Given the description of an element on the screen output the (x, y) to click on. 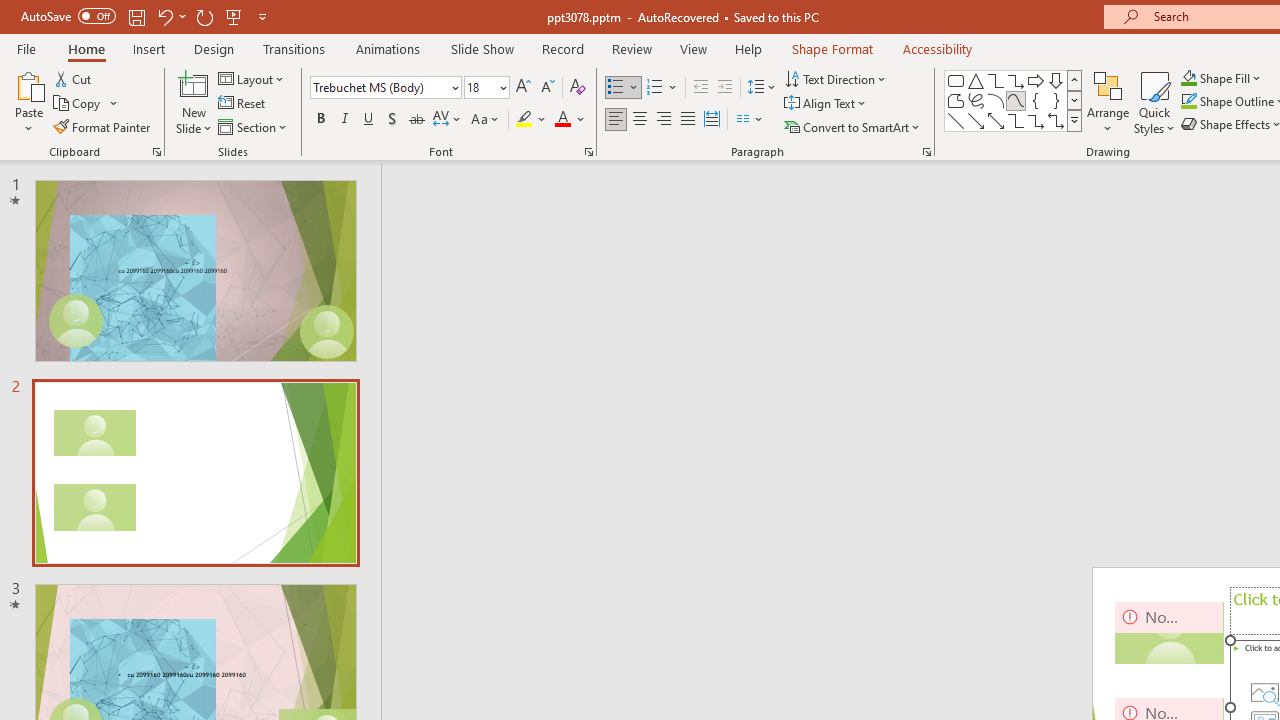
Line Arrow: Double (995, 120)
